Given the description of an element on the screen output the (x, y) to click on. 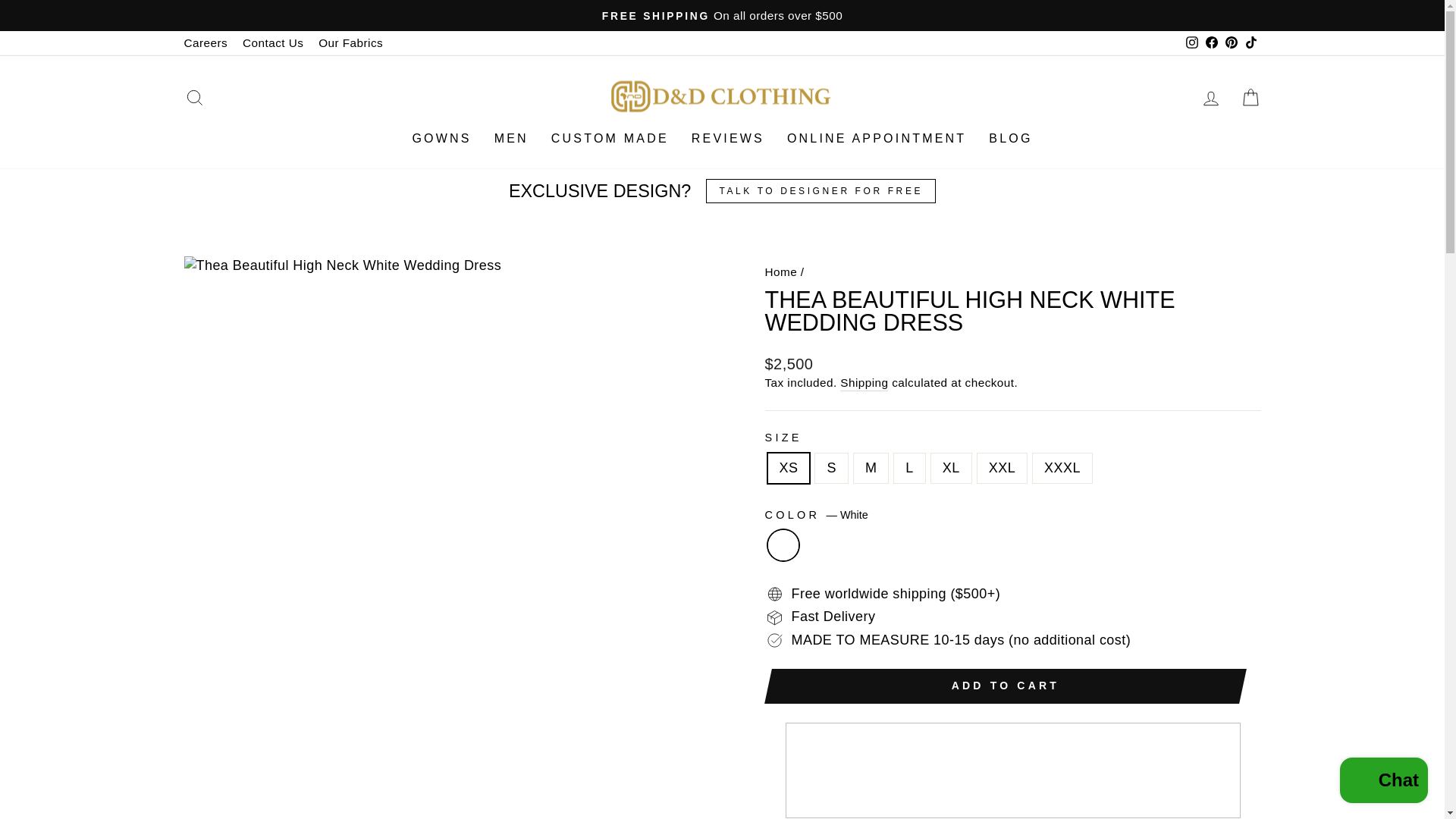
Back to the frontpage (780, 271)
